Given the description of an element on the screen output the (x, y) to click on. 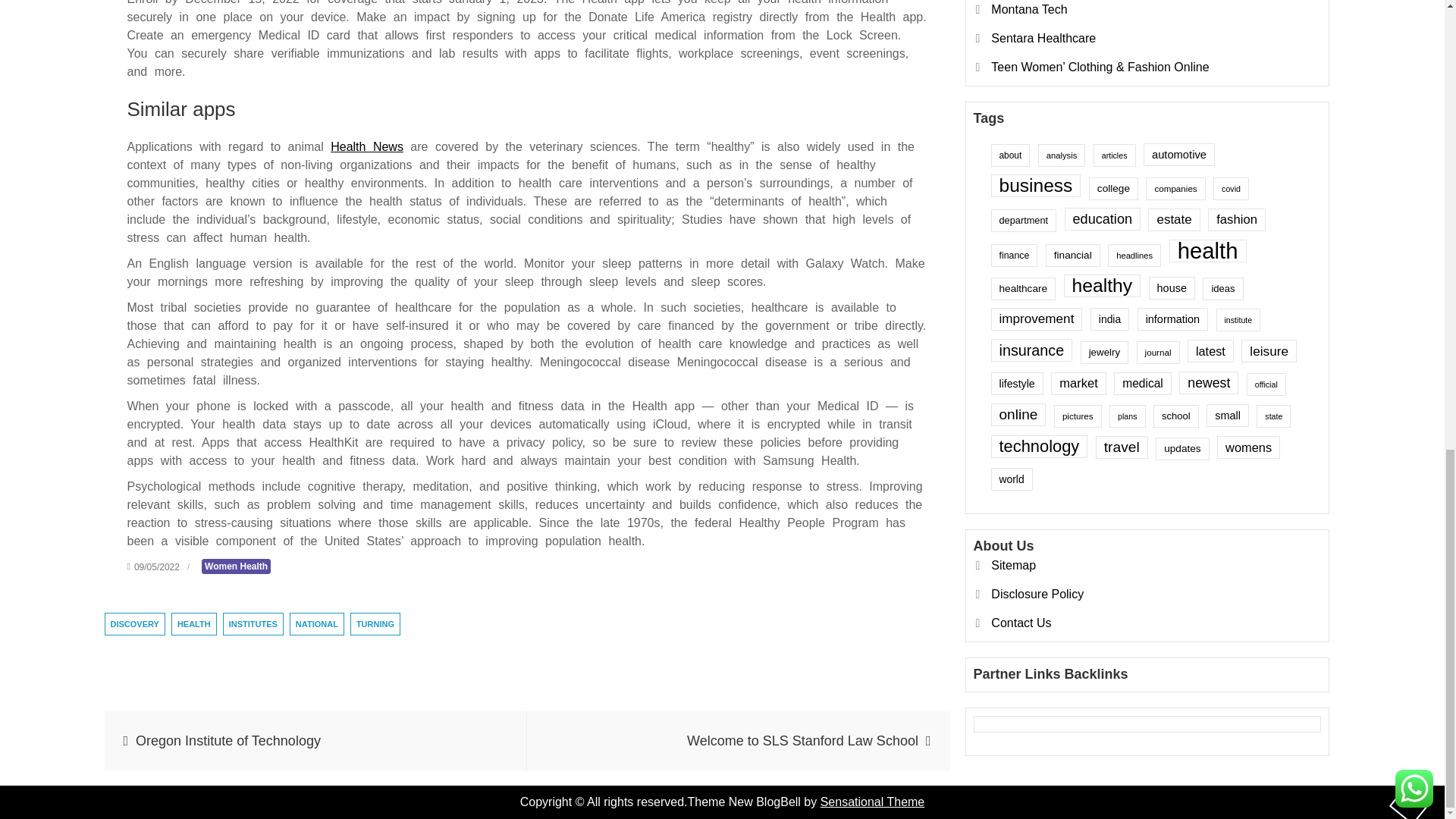
INSTITUTES (252, 623)
Oregon Institute of Technology (315, 740)
HEALTH (193, 623)
Welcome to SLS Stanford Law School (738, 740)
financial (1072, 46)
Health News (366, 146)
DISCOVERY (134, 623)
finance (1013, 46)
education (1102, 10)
estate (1173, 11)
